Given the description of an element on the screen output the (x, y) to click on. 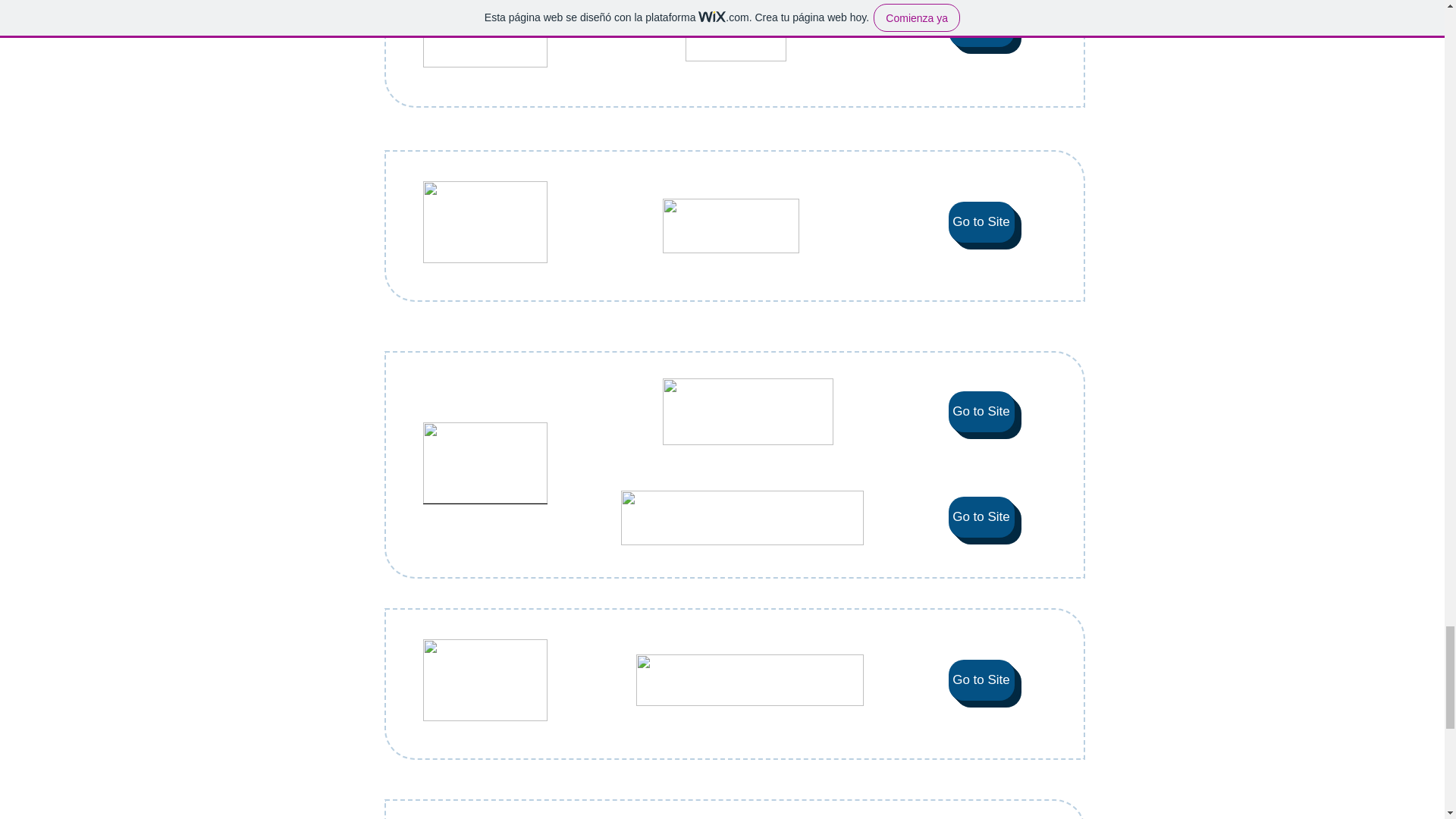
Go to Site (980, 680)
Go to Site (980, 411)
Go to Site (980, 25)
Go to Site (980, 221)
Go to Site (980, 516)
